Given the description of an element on the screen output the (x, y) to click on. 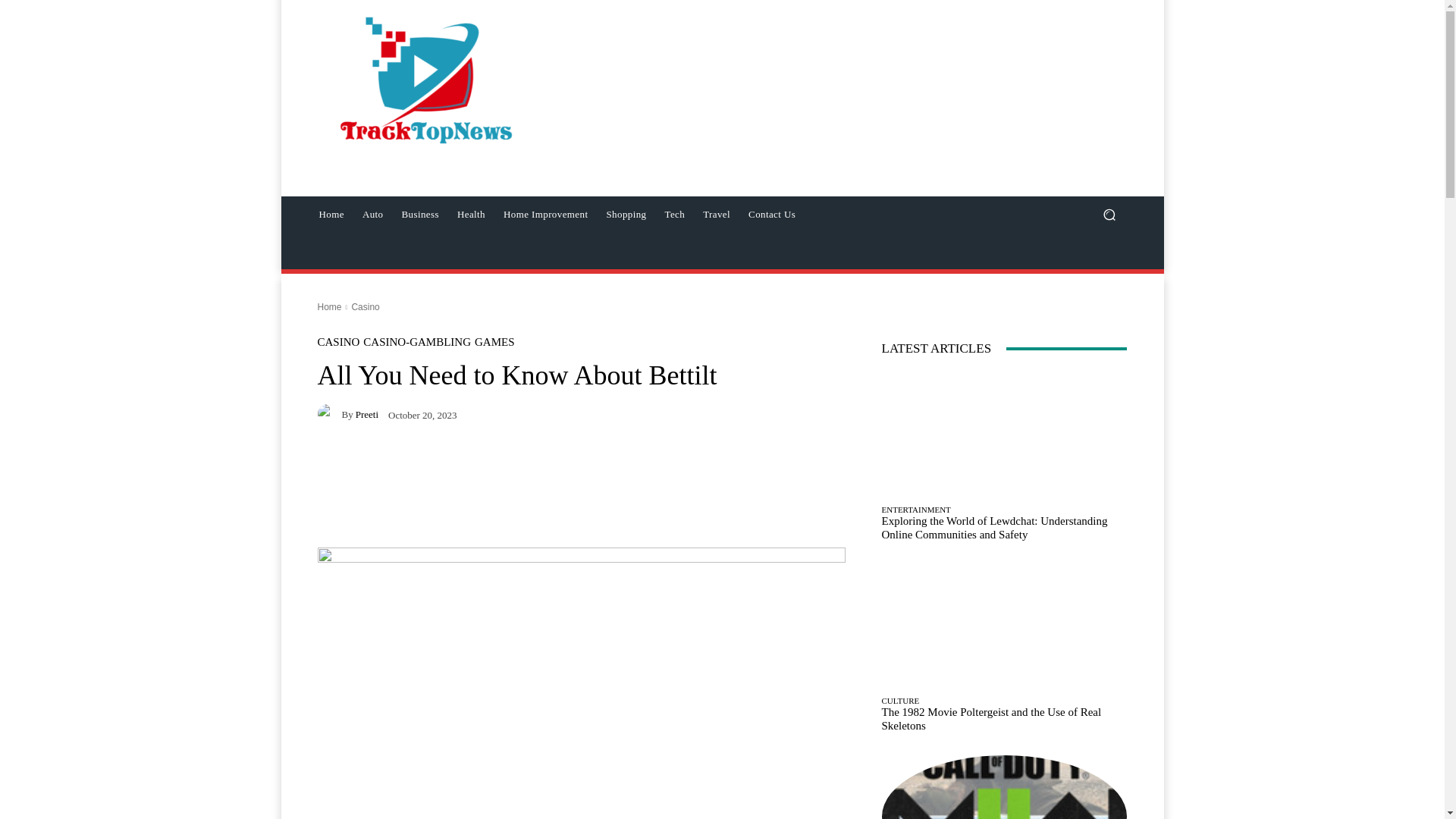
Home (330, 214)
Preeti (328, 414)
Home (328, 307)
Tech (674, 214)
View all posts in Casino (364, 307)
Contact Us (772, 214)
Auto (373, 214)
Home Improvement (545, 214)
Health (471, 214)
Shopping (625, 214)
